Given the description of an element on the screen output the (x, y) to click on. 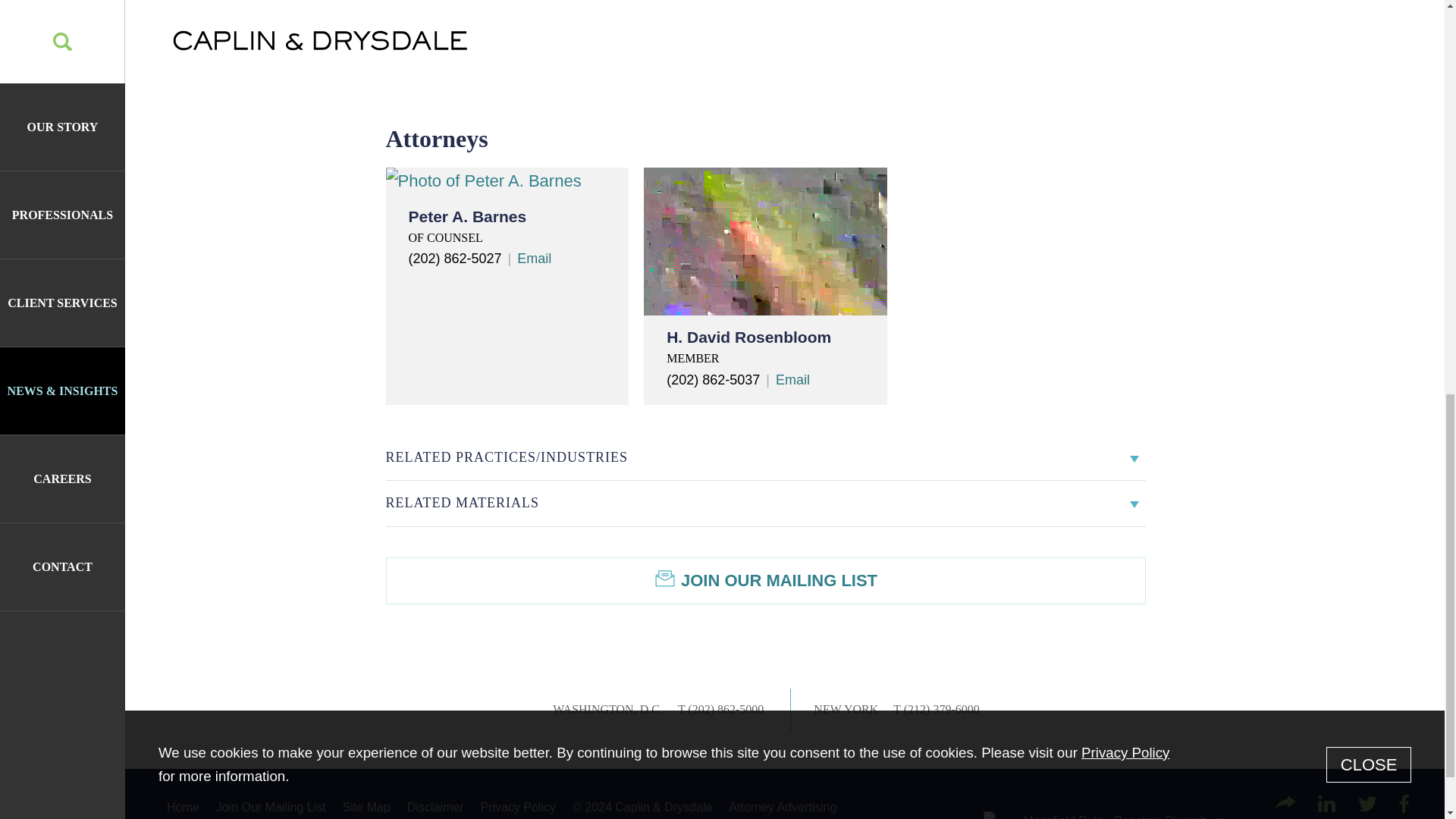
twitter Icon (1367, 803)
Share (1285, 802)
linkedin Icon (1326, 803)
